Given the description of an element on the screen output the (x, y) to click on. 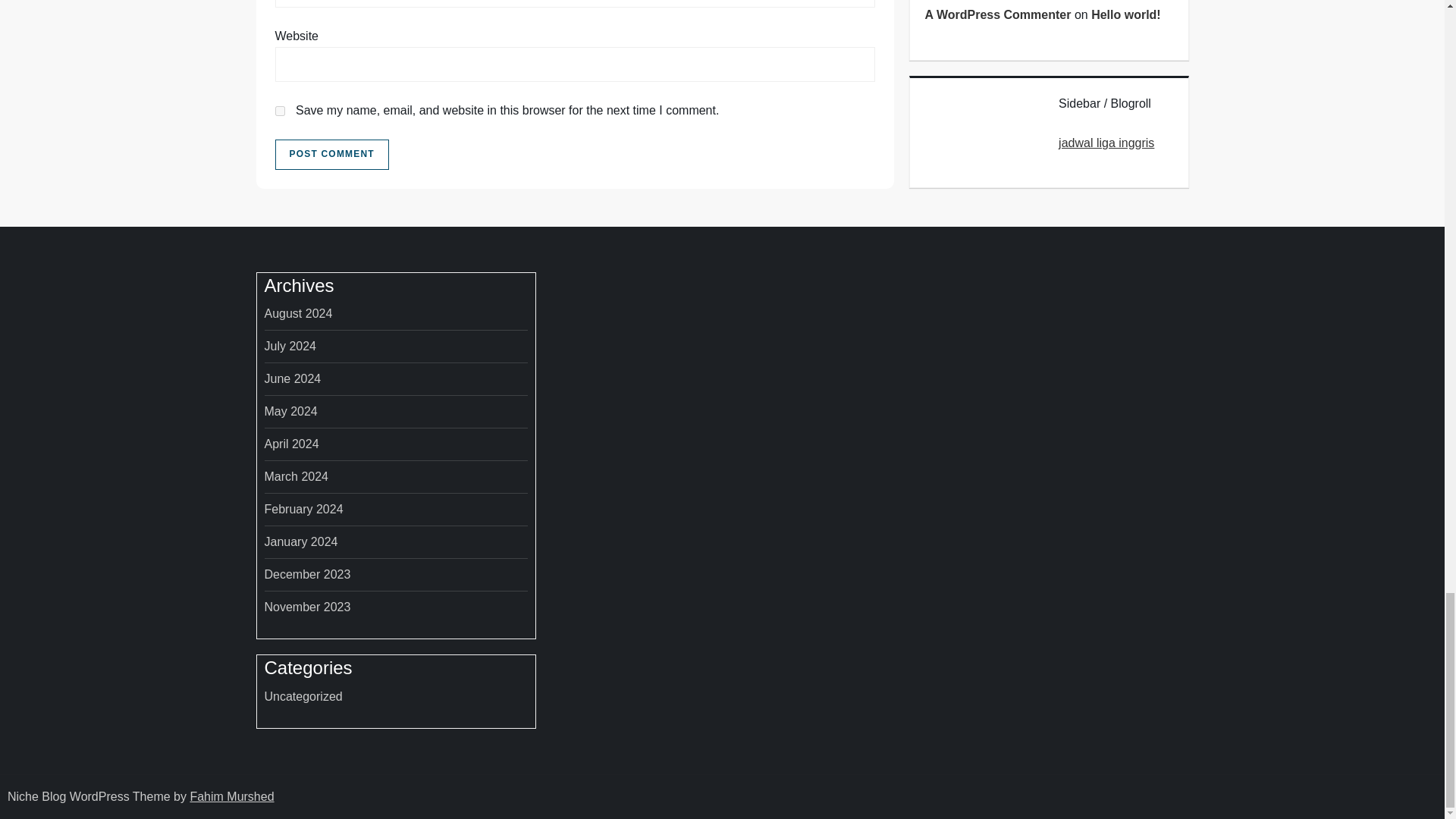
March 2024 (296, 476)
November 2023 (306, 607)
January 2024 (300, 541)
July 2024 (289, 346)
May 2024 (290, 411)
August 2024 (297, 313)
April 2024 (290, 444)
Post Comment (331, 154)
June 2024 (291, 378)
Post Comment (331, 154)
